Given the description of an element on the screen output the (x, y) to click on. 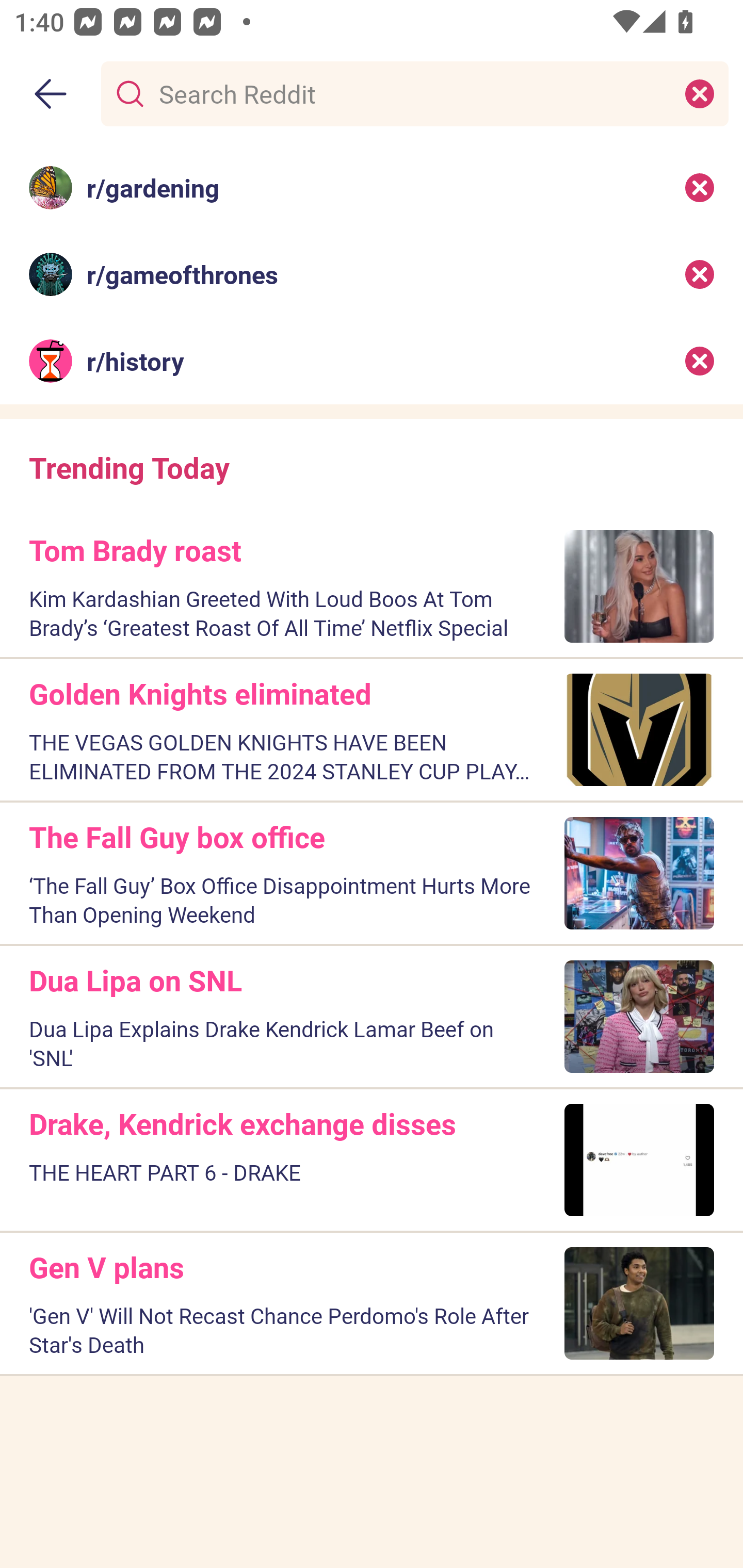
Back (50, 93)
Search Reddit (410, 93)
Clear search (699, 93)
r/gardening Recent search: r/gardening Remove (371, 187)
Remove (699, 187)
Remove (699, 274)
r/history Recent search: r/history Remove (371, 361)
Remove (699, 361)
